Given the description of an element on the screen output the (x, y) to click on. 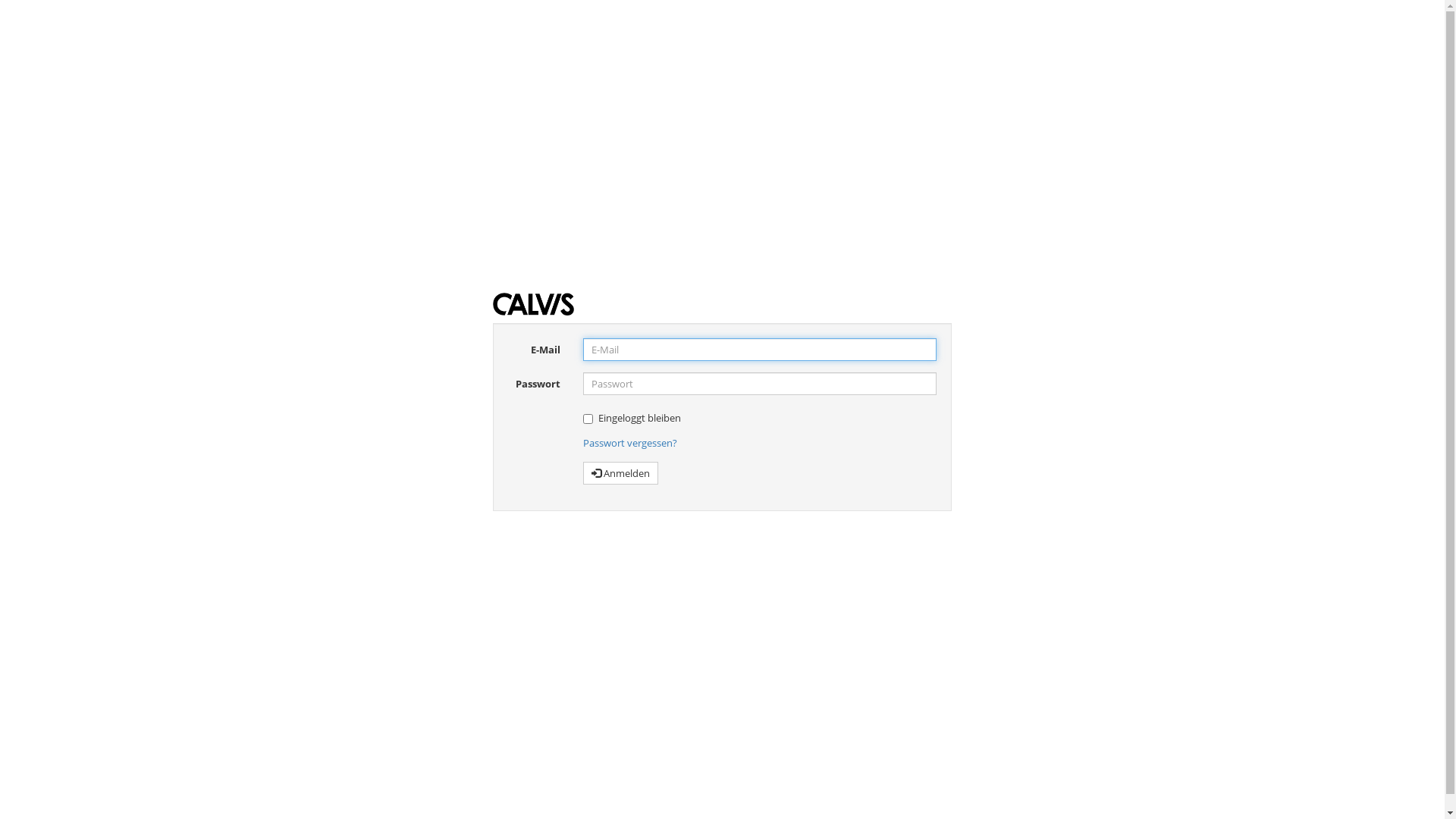
Passwort vergessen? Element type: text (630, 442)
Anmelden Element type: text (620, 473)
